Given the description of an element on the screen output the (x, y) to click on. 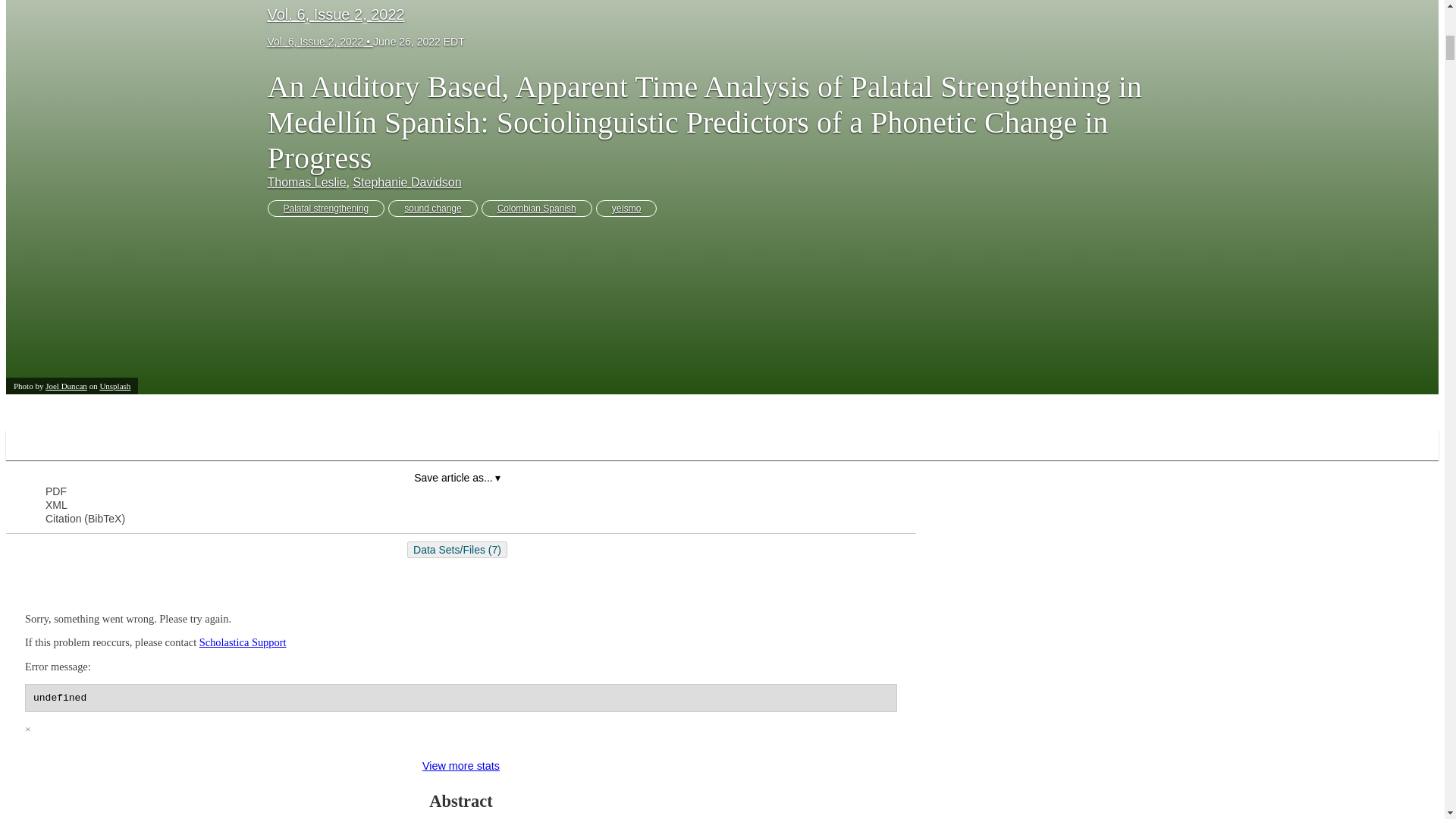
Unsplash (115, 385)
Stephanie Davidson (406, 182)
Joel Duncan (66, 385)
Vol. 6, Issue 2, 2022 (335, 14)
Colombian Spanish (536, 208)
Thomas Leslie (306, 182)
Palatal strengthening (325, 208)
Vol. 6, Issue 2, 2022 (319, 41)
sound change (432, 208)
